Given the description of an element on the screen output the (x, y) to click on. 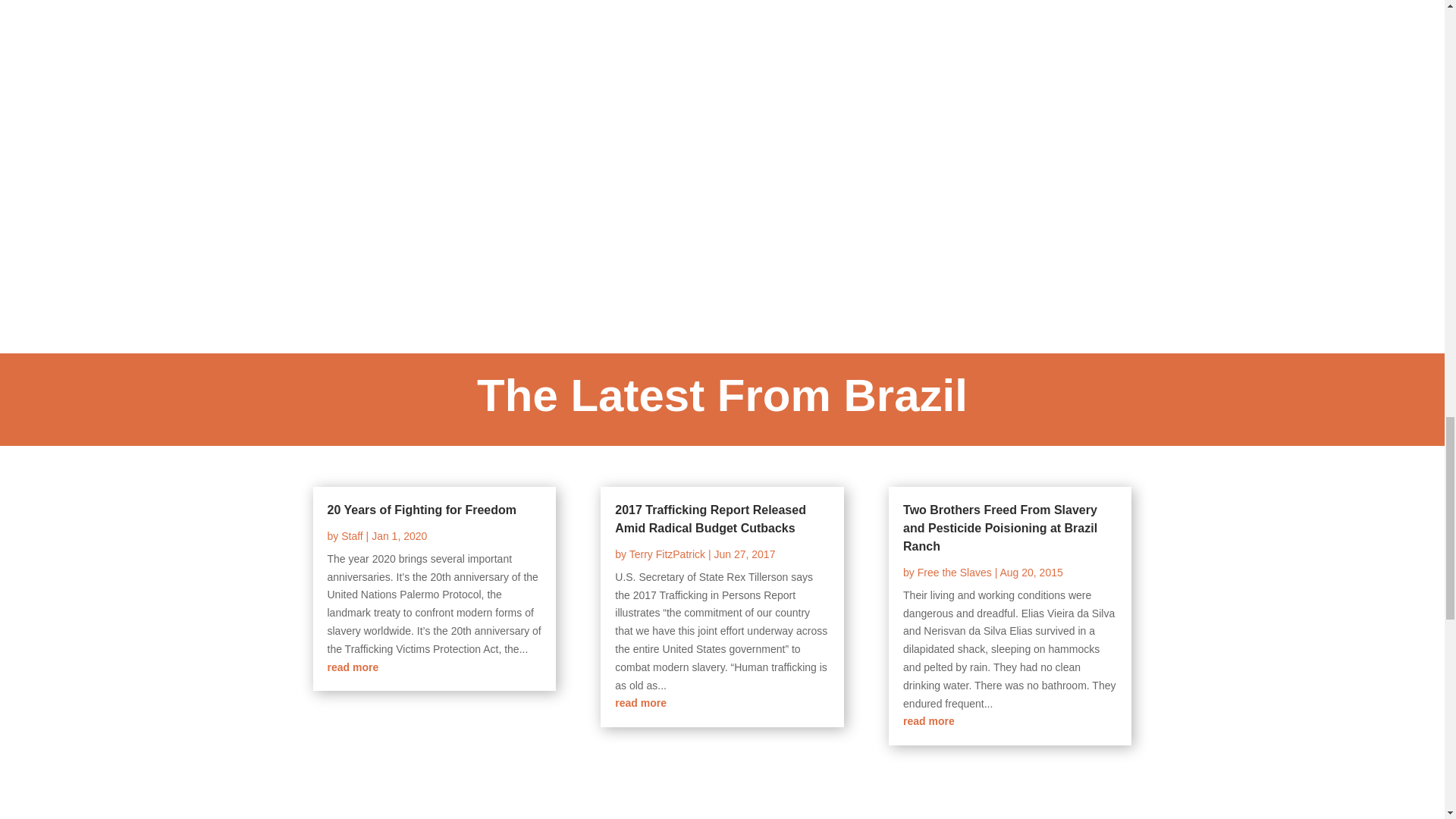
Partners in Action Fight Slavery in Brazil (505, 121)
Posts by Free the Slaves (954, 572)
Posts by Terry FitzPatrick (666, 553)
Posts by Staff (351, 535)
